Given the description of an element on the screen output the (x, y) to click on. 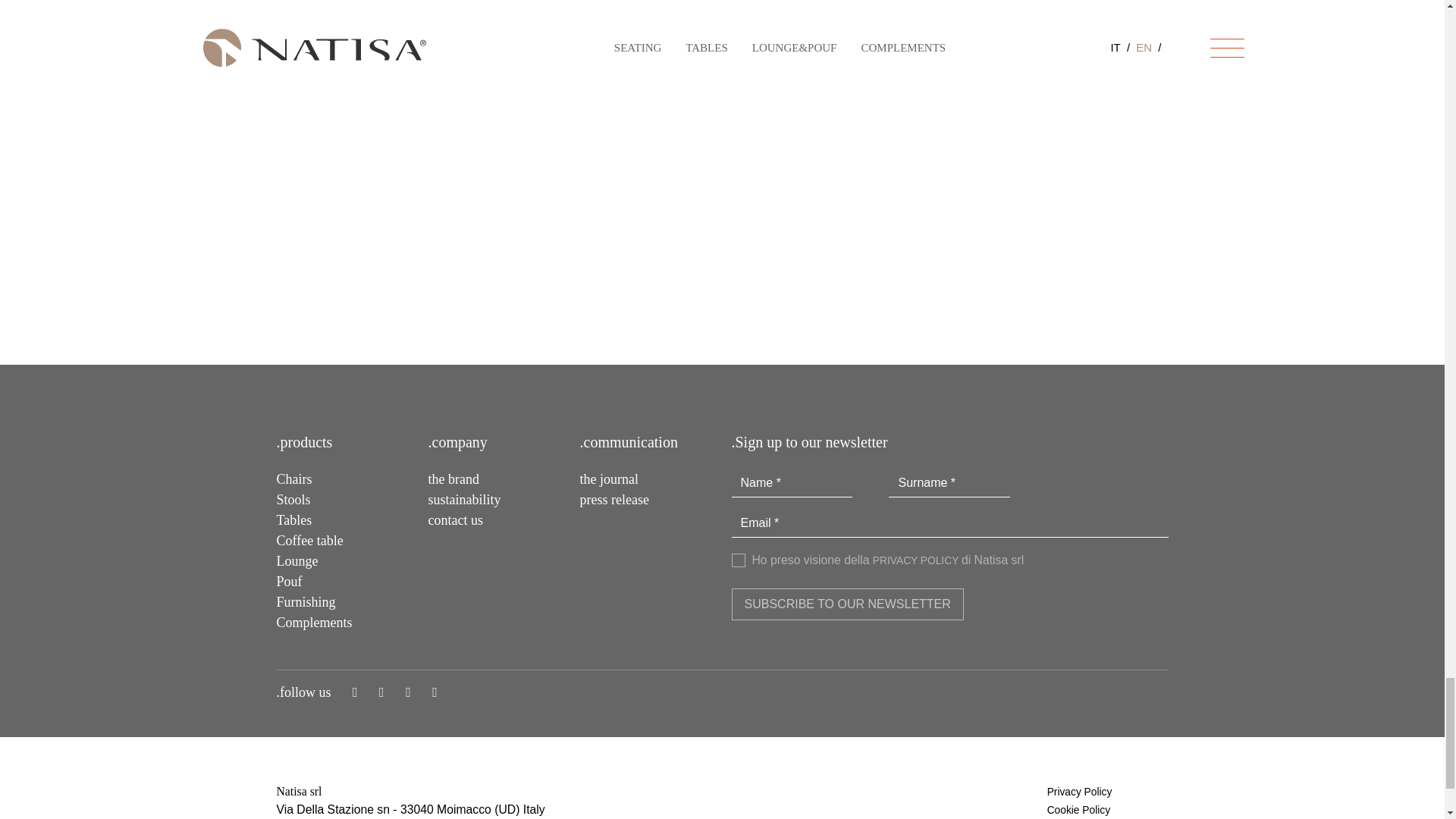
Privacy Policy  (1079, 791)
Cookie Policy  (1077, 809)
1 (737, 560)
Privacy Policy  (916, 560)
